Given the description of an element on the screen output the (x, y) to click on. 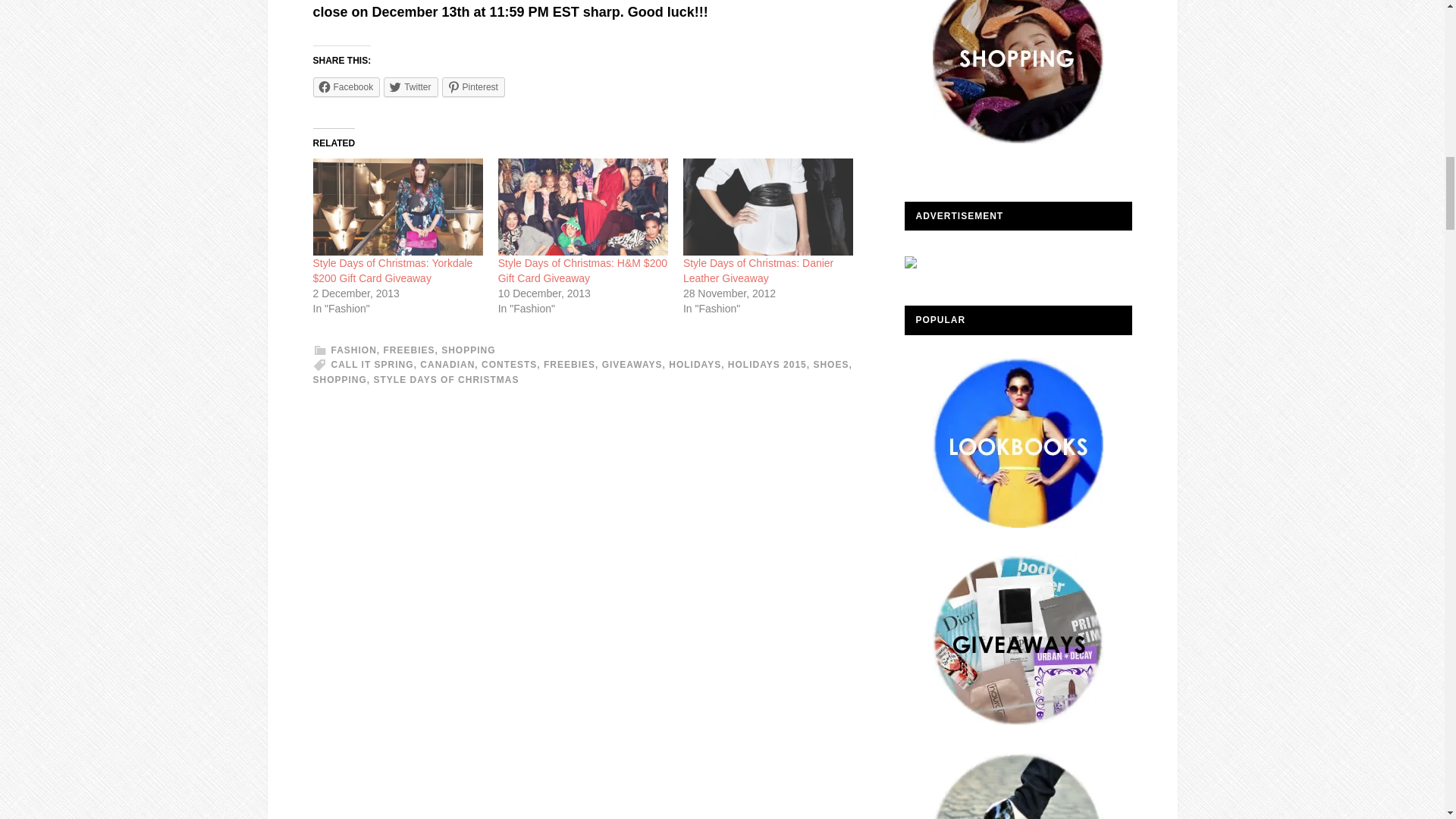
Facebook (346, 86)
CANADIAN (447, 364)
FREEBIES (569, 364)
SHOPPING (468, 349)
Pinterest (473, 86)
SHOES (830, 364)
HOLIDAYS (694, 364)
GIVEAWAYS (632, 364)
Style Days of Christmas: Danier Leather Giveaway (767, 206)
Click to share on Twitter (411, 86)
Twitter (411, 86)
HOLIDAYS 2015 (767, 364)
Style Days of Christmas: Danier Leather Giveaway (757, 270)
CONTESTS (509, 364)
FREEBIES (409, 349)
